Given the description of an element on the screen output the (x, y) to click on. 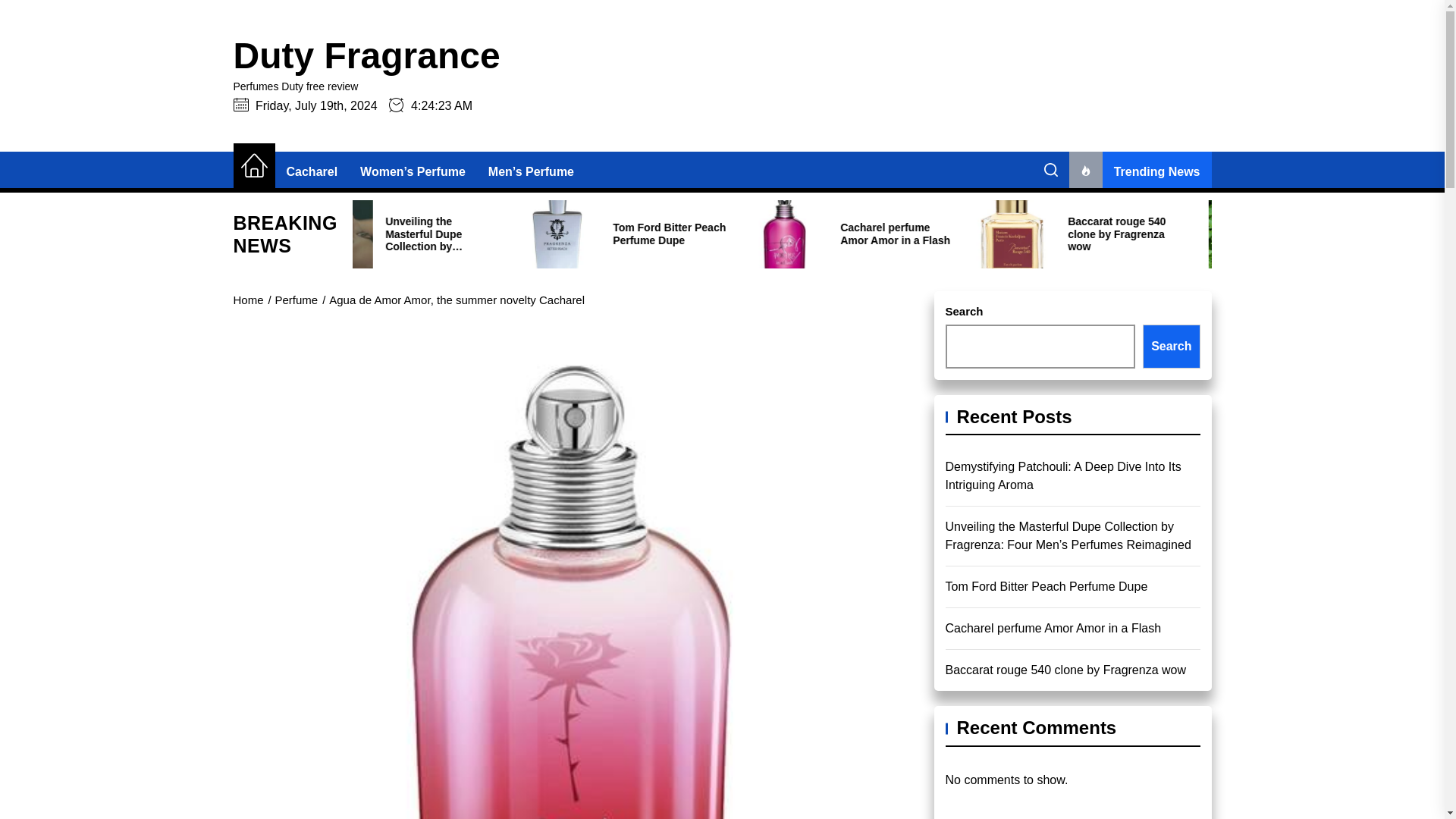
Tom Ford Bitter Peach Perfume Dupe (810, 233)
Cacharel (312, 171)
Trending News (1139, 171)
Duty Fragrance (366, 55)
